Given the description of an element on the screen output the (x, y) to click on. 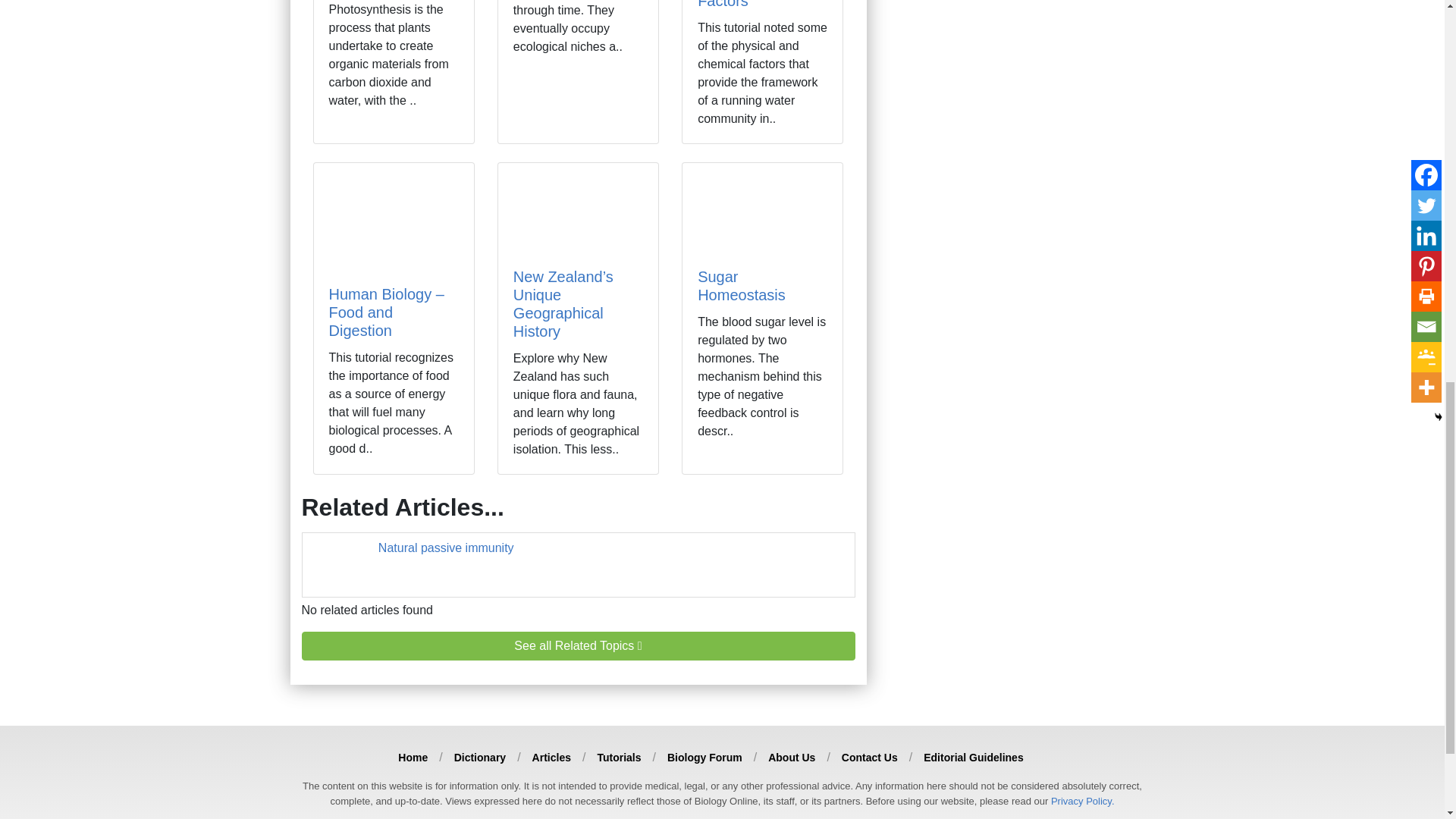
Running Water Freshwater Community Factors (747, 4)
